Given the description of an element on the screen output the (x, y) to click on. 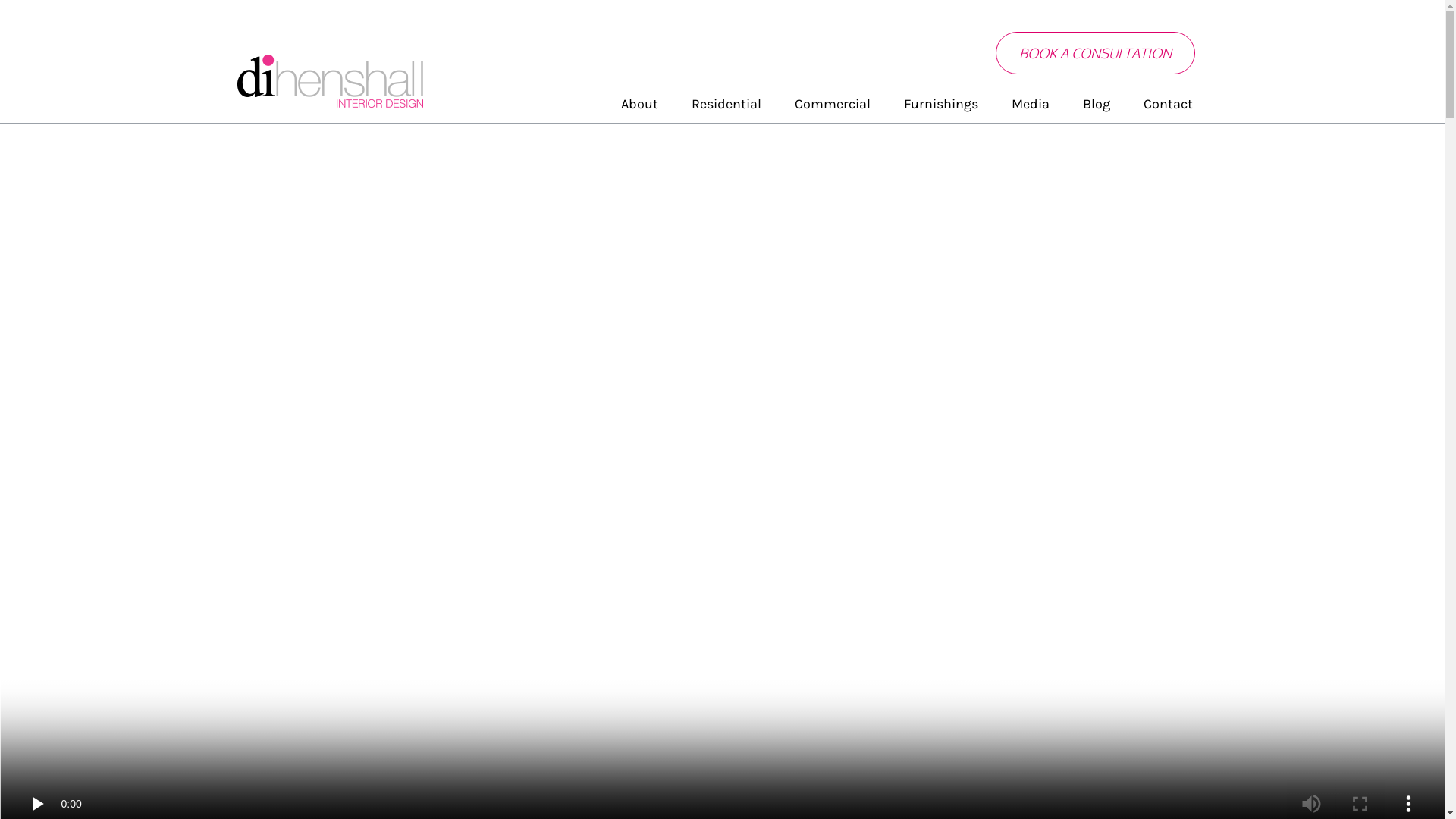
Residential Element type: text (726, 103)
BOOK A CONSULTATION Element type: text (1094, 52)
Blog Element type: text (1096, 103)
Furnishings Element type: text (940, 103)
Contact Element type: text (1168, 103)
About Element type: text (638, 103)
Media Element type: text (1030, 103)
Commercial Element type: text (832, 103)
